Given the description of an element on the screen output the (x, y) to click on. 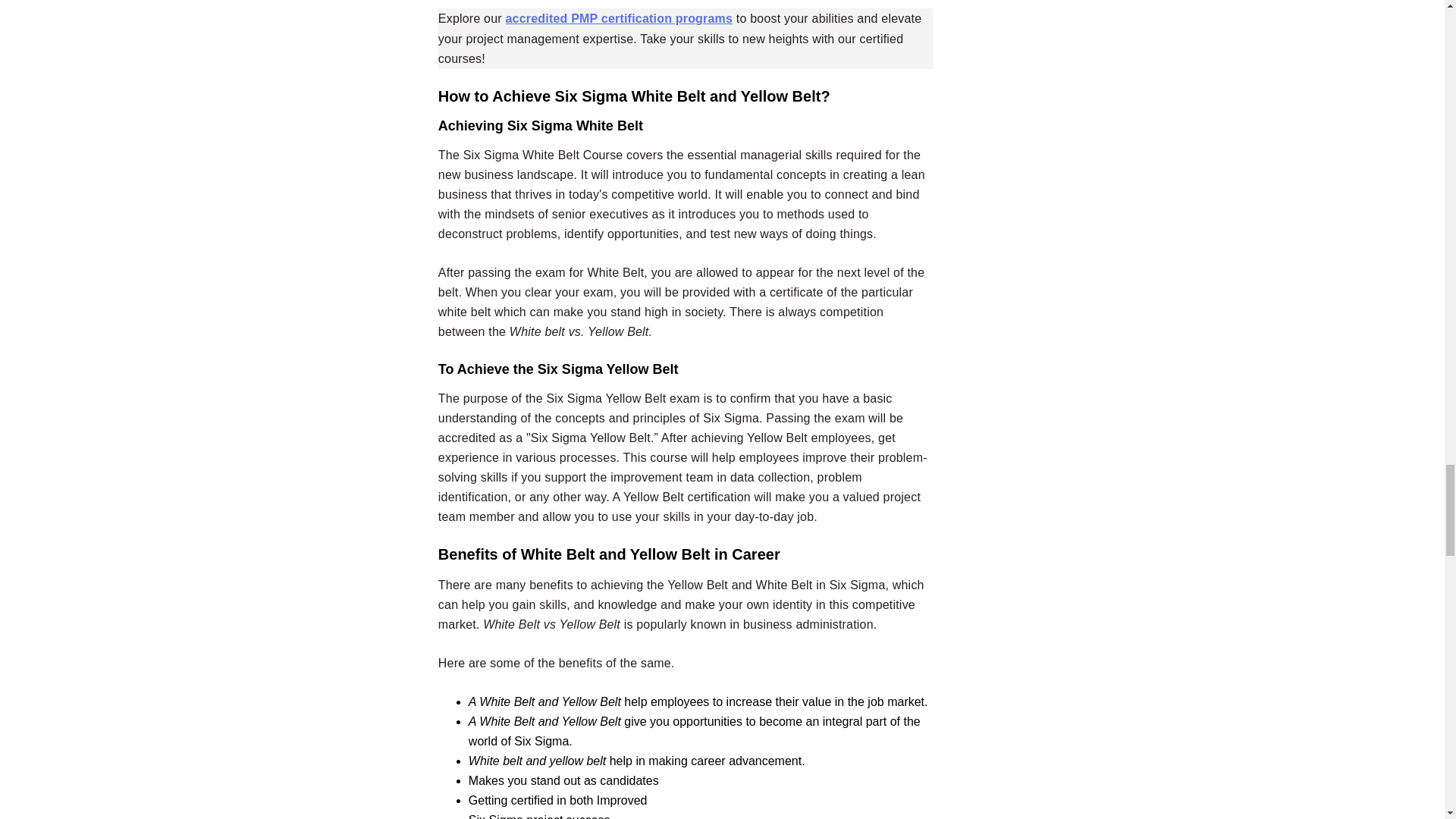
accredited PMP certification programs (618, 18)
